Given the description of an element on the screen output the (x, y) to click on. 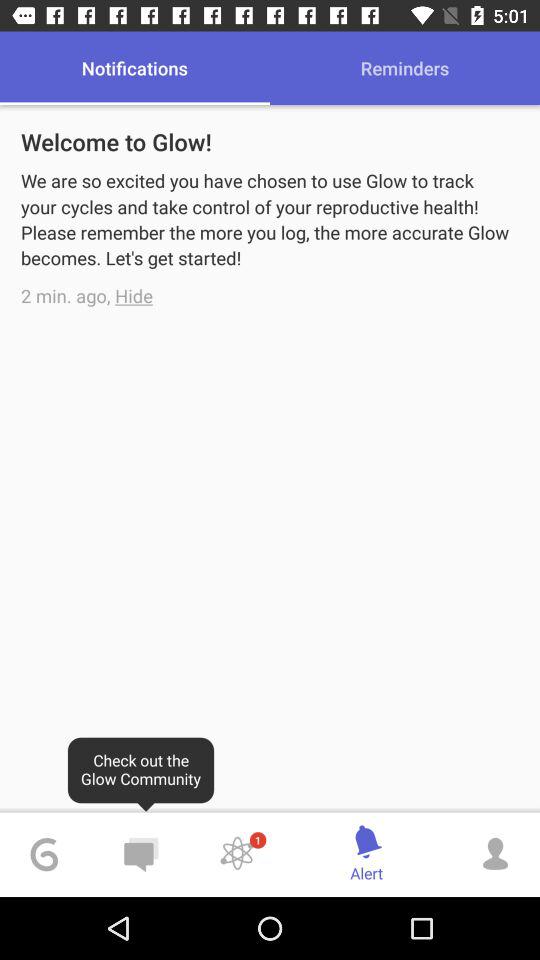
launch the item to the right of the 2 min. ago, (133, 295)
